Given the description of an element on the screen output the (x, y) to click on. 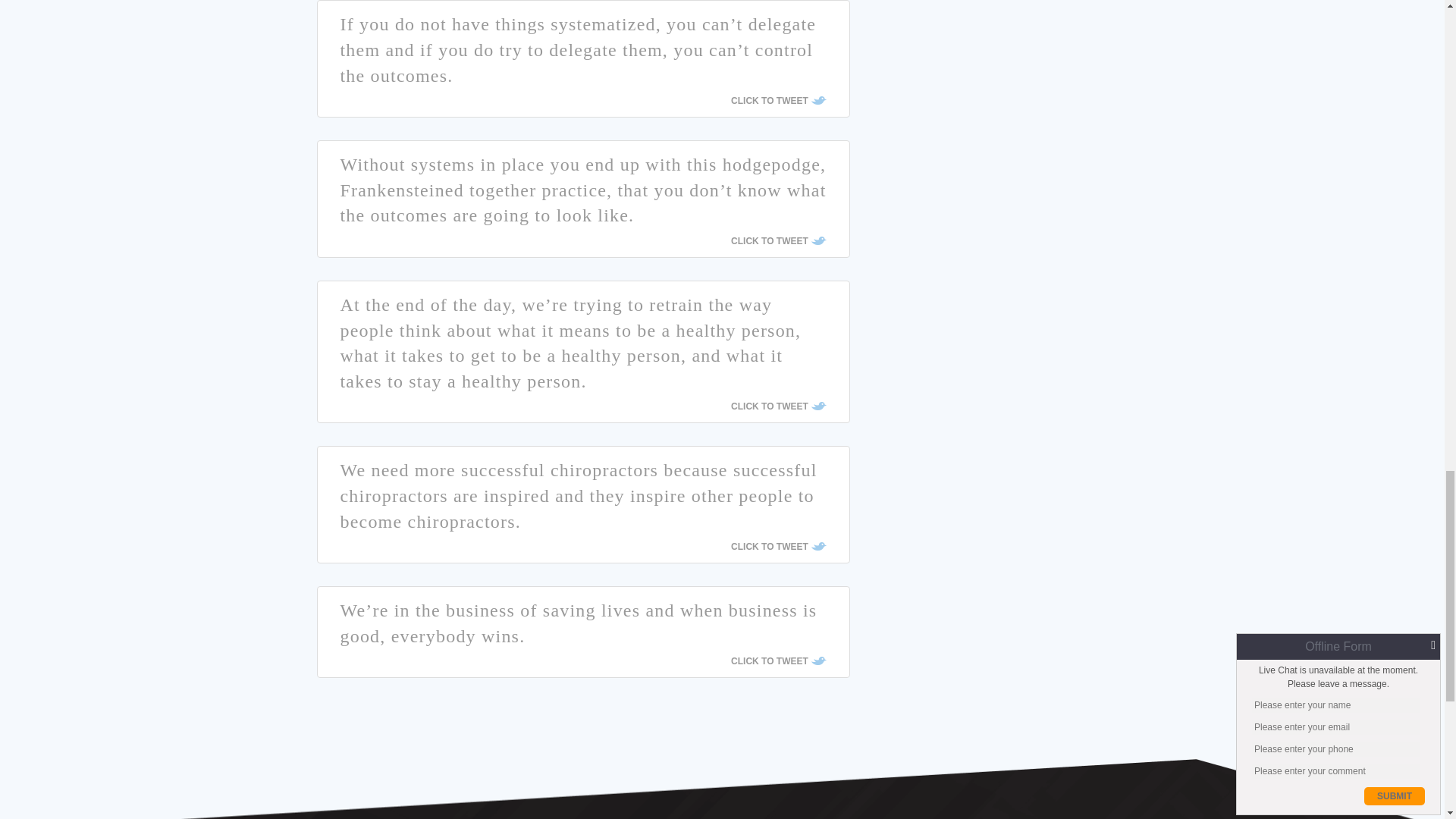
CLICK TO TWEET (778, 546)
CLICK TO TWEET (778, 240)
CLICK TO TWEET (778, 100)
CLICK TO TWEET (778, 406)
